Given the description of an element on the screen output the (x, y) to click on. 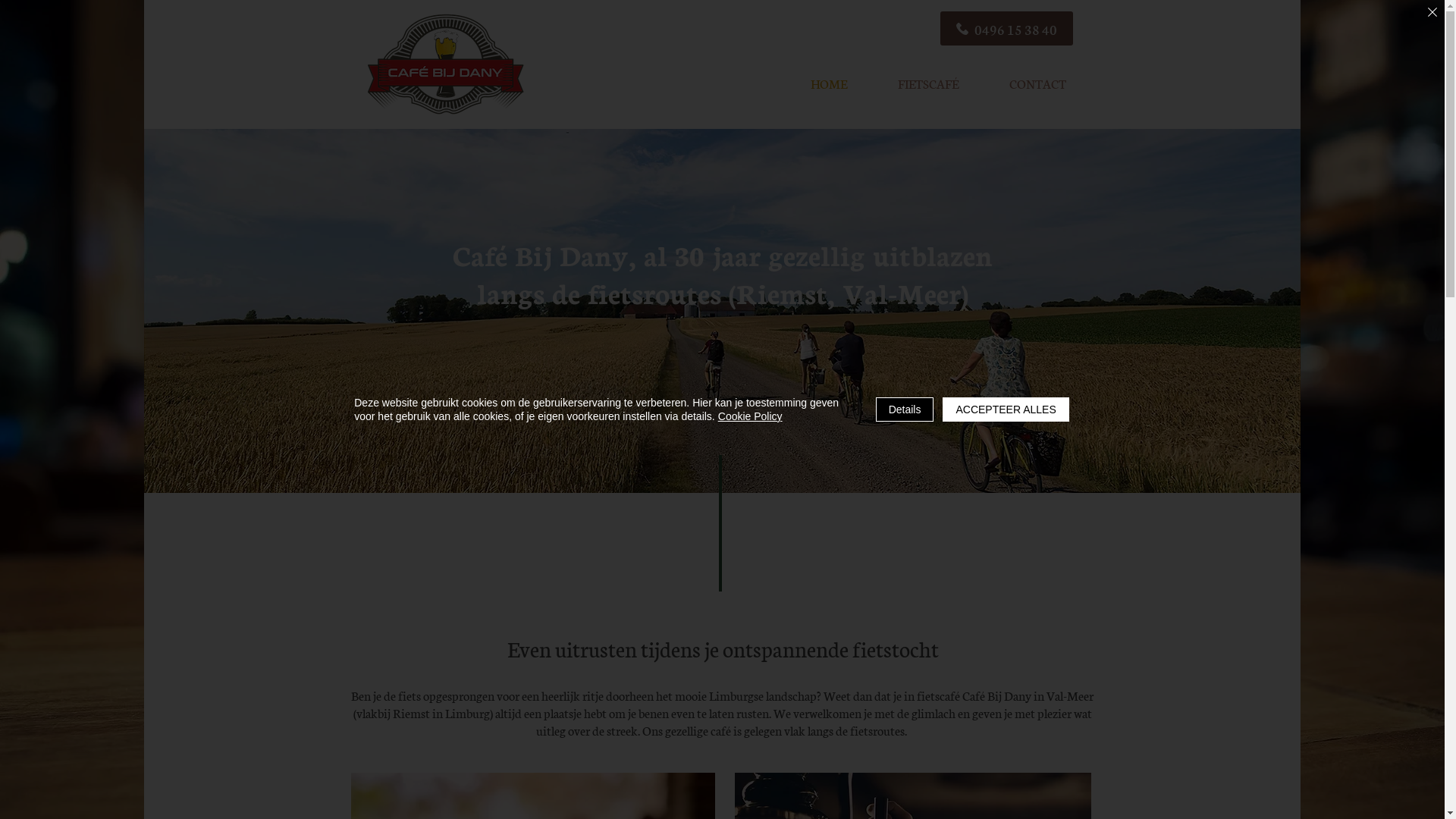
Details Element type: text (904, 409)
Cookie Policy Element type: text (750, 416)
ACCEPTEER ALLES Element type: text (1005, 409)
HOME Element type: text (828, 83)
0496 15 38 40 Element type: text (1006, 28)
CONTACT Element type: text (1038, 83)
